Given the description of an element on the screen output the (x, y) to click on. 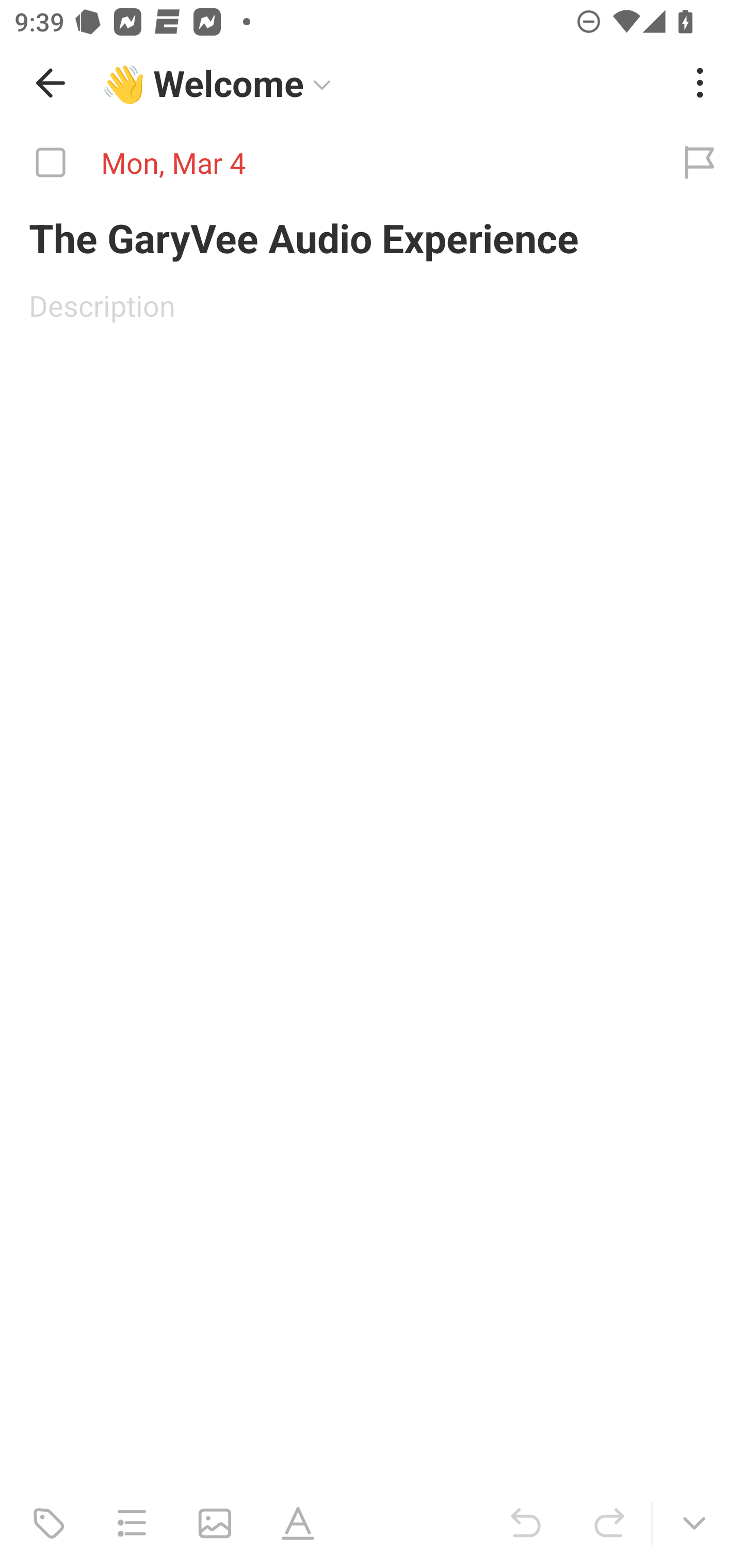
👋 Welcome (209, 93)
Mon, Mar 4  (328, 163)
The GaryVee Audio Experience (371, 237)
Description (371, 304)
